Given the description of an element on the screen output the (x, y) to click on. 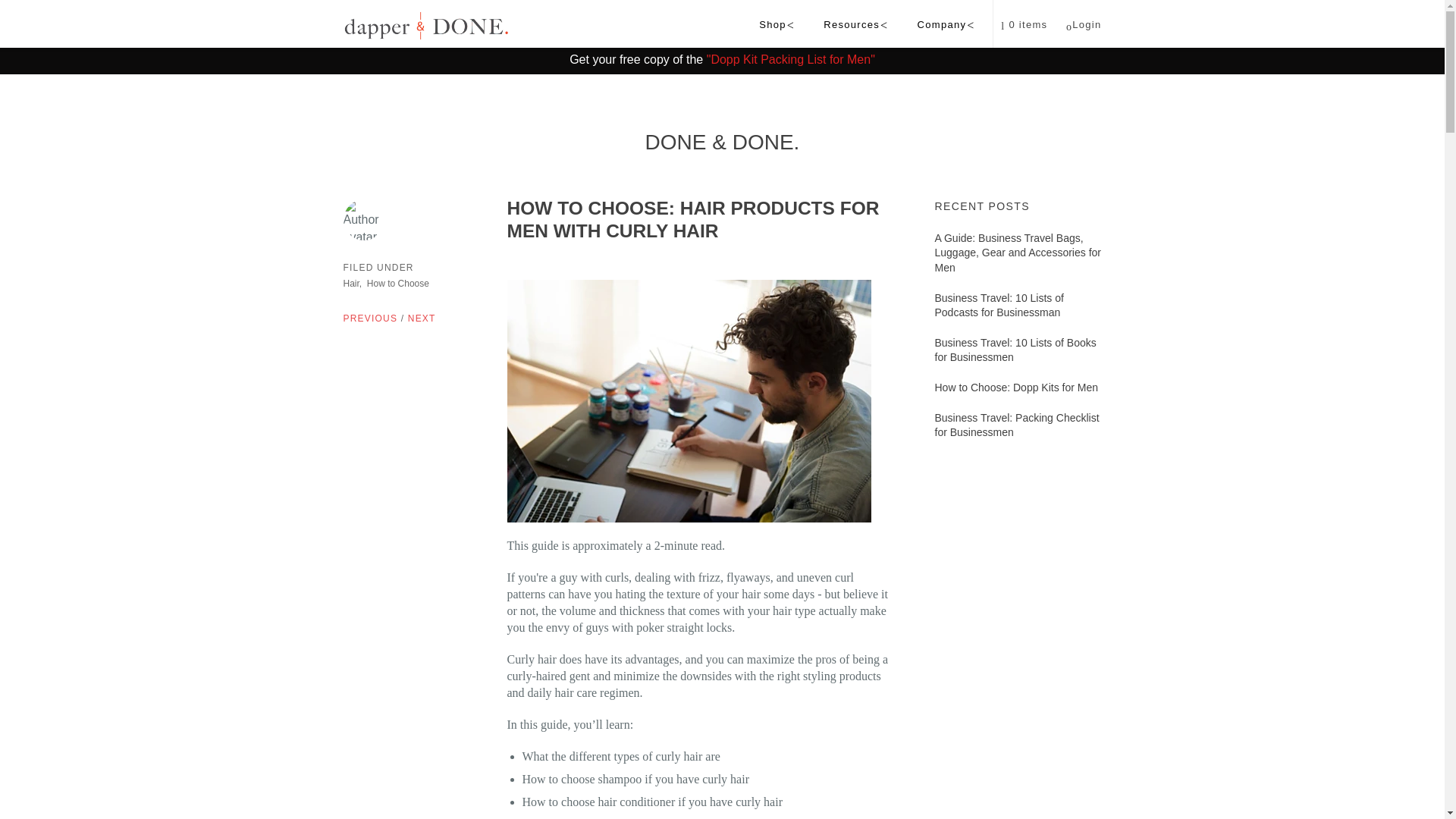
PREVIOUS (369, 317)
Login (1083, 24)
Hair (350, 283)
How to Choose (397, 283)
"Dopp Kit Packing List for Men" (790, 59)
NEXT (421, 317)
